Given the description of an element on the screen output the (x, y) to click on. 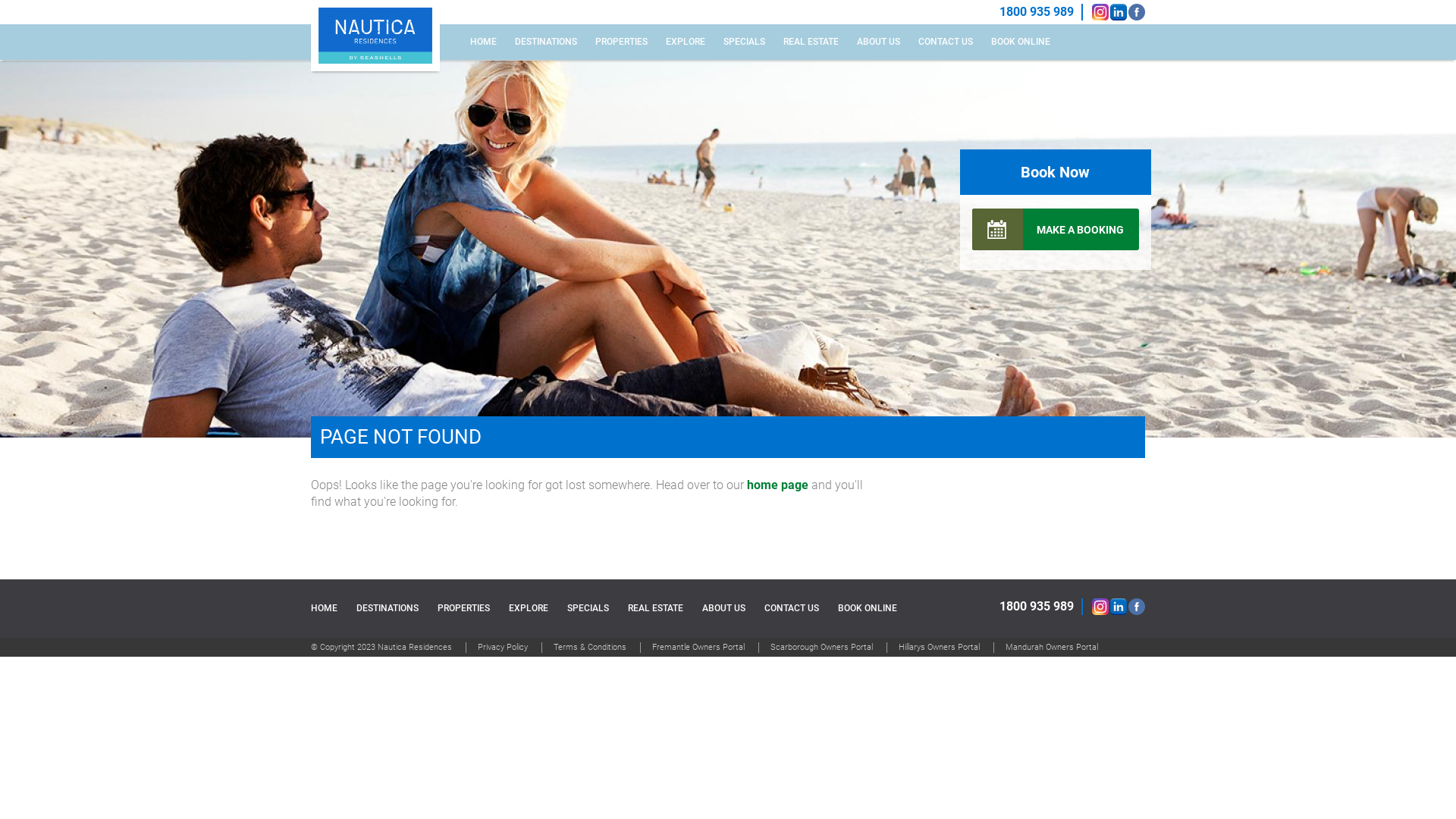
CONTACT US Element type: text (791, 608)
DESTINATIONS Element type: text (545, 41)
Facebook Element type: hover (1136, 11)
SPECIALS Element type: text (744, 41)
HOME Element type: text (483, 41)
EXPLORE Element type: text (685, 41)
SPECIALS Element type: text (587, 608)
Scarborough Owners Portal Element type: text (820, 647)
Hillarys Owners Portal Element type: text (938, 647)
LinkedIn Element type: hover (1118, 11)
HOME Element type: text (323, 608)
Facebook Element type: hover (1136, 606)
EXPLORE Element type: text (528, 608)
MAKE A BOOKING Element type: text (1055, 229)
BOOK ONLINE Element type: text (867, 608)
1800 935 989 Element type: text (1036, 606)
PROPERTIES Element type: text (463, 608)
Mandurah Owners Portal Element type: text (1050, 647)
Terms & Conditions Element type: text (589, 647)
home page Element type: text (777, 484)
BOOK ONLINE Element type: text (1020, 41)
ABOUT US Element type: text (723, 608)
Fremantle Owners Portal Element type: text (697, 647)
CONTACT US Element type: text (945, 41)
LinkedIn Element type: hover (1118, 606)
Instagram Element type: hover (1100, 11)
Instagram Element type: hover (1100, 606)
Nautica Residences Element type: hover (374, 35)
REAL ESTATE Element type: text (655, 608)
REAL ESTATE Element type: text (810, 41)
ABOUT US Element type: text (878, 41)
DESTINATIONS Element type: text (387, 608)
1800 935 989 Element type: text (1036, 11)
PROPERTIES Element type: text (621, 41)
Privacy Policy Element type: text (501, 647)
